Given the description of an element on the screen output the (x, y) to click on. 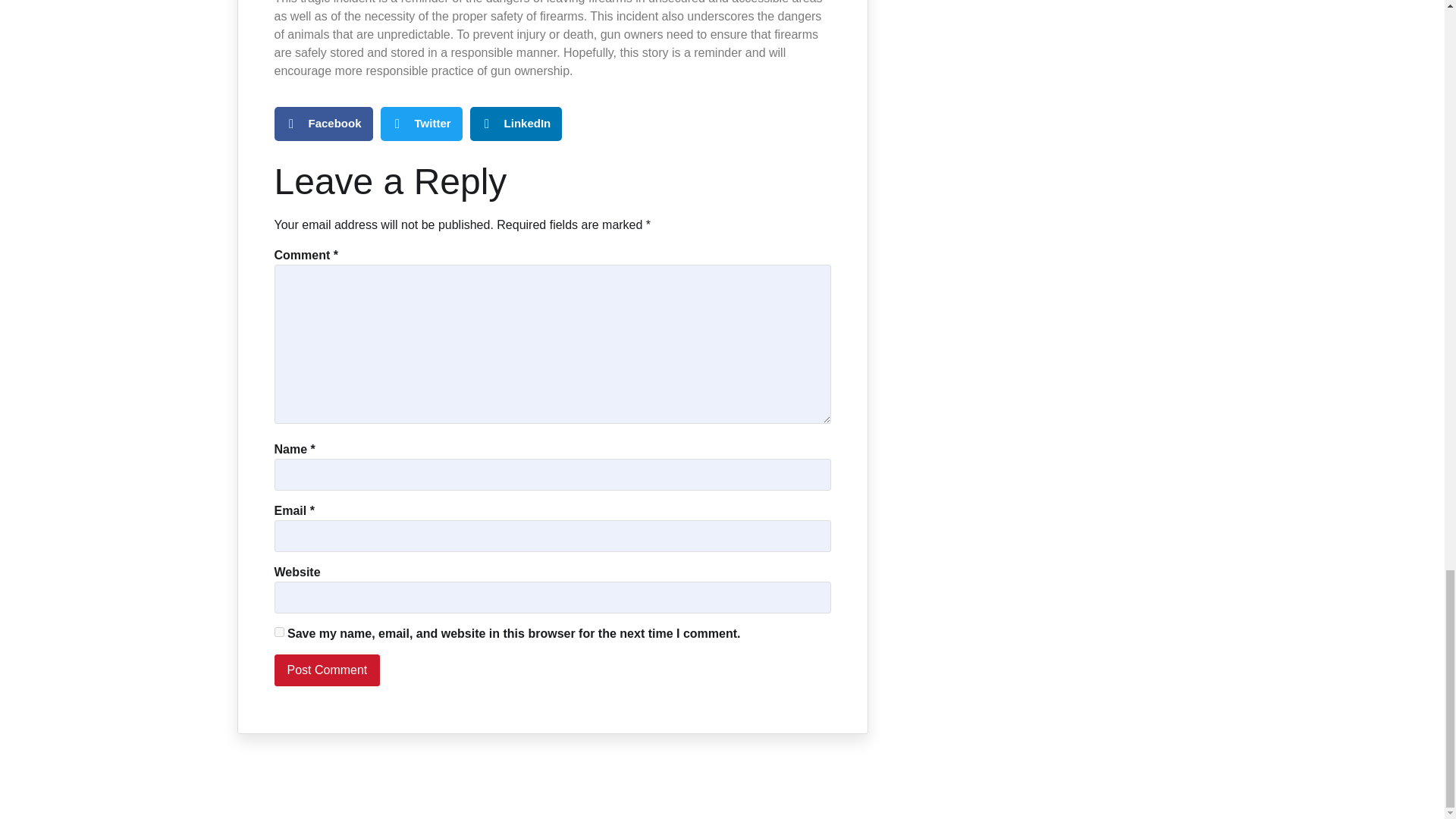
Post Comment (327, 670)
Post Comment (327, 670)
yes (279, 632)
